Given the description of an element on the screen output the (x, y) to click on. 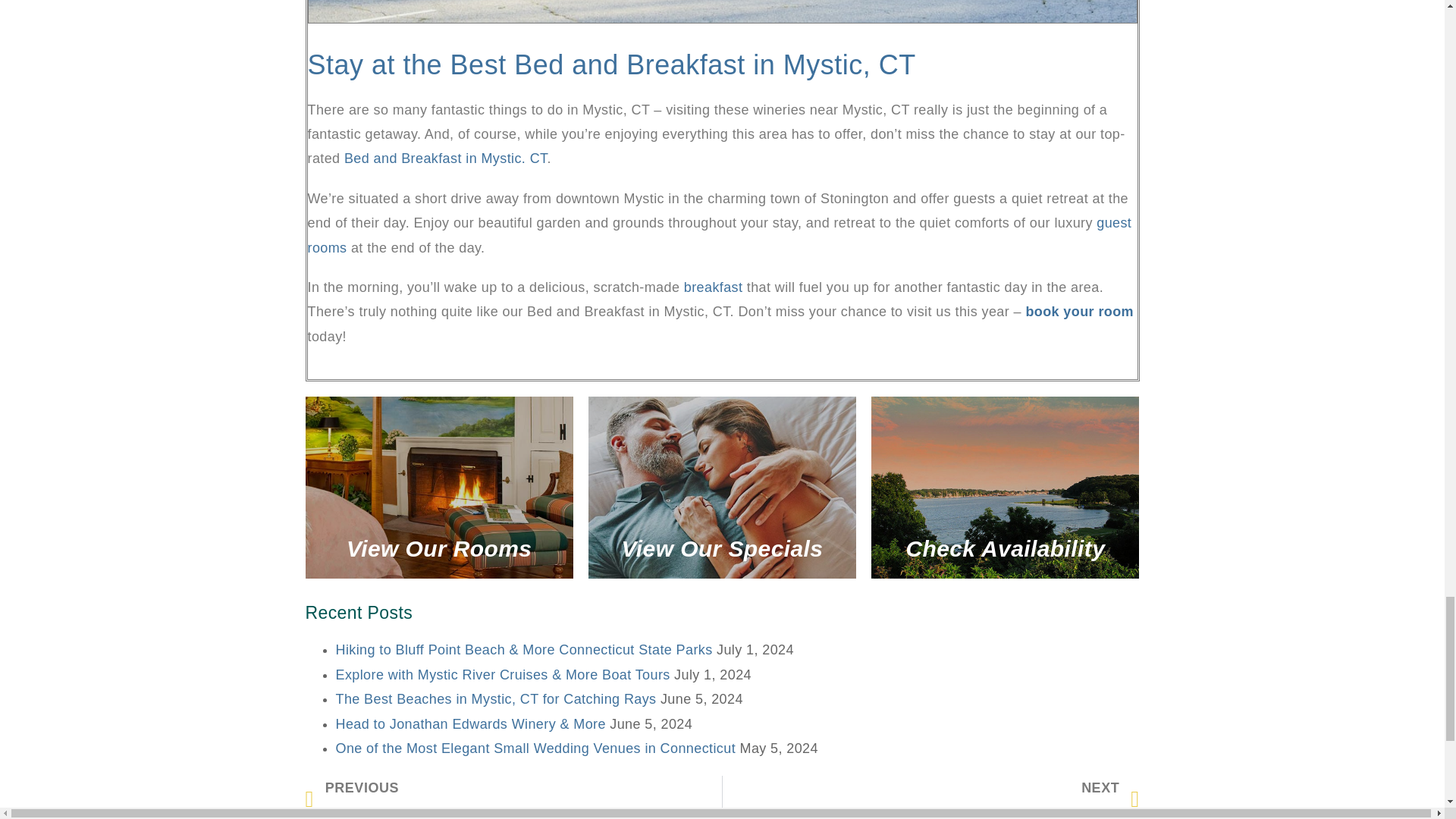
guest rooms (719, 234)
One of the Most Elegant Small Wedding Venues in Connecticut (534, 748)
Check Availability (1004, 487)
View Our Rooms (438, 487)
book your room (1079, 311)
We Love These 5 Wineries Near Mystic CT 8 (722, 11)
breakfast (713, 287)
Bed and Breakfast in Mystic. CT (445, 158)
View Our Specials (722, 487)
The Best Beaches in Mystic, CT for Catching Rays (495, 698)
